Given the description of an element on the screen output the (x, y) to click on. 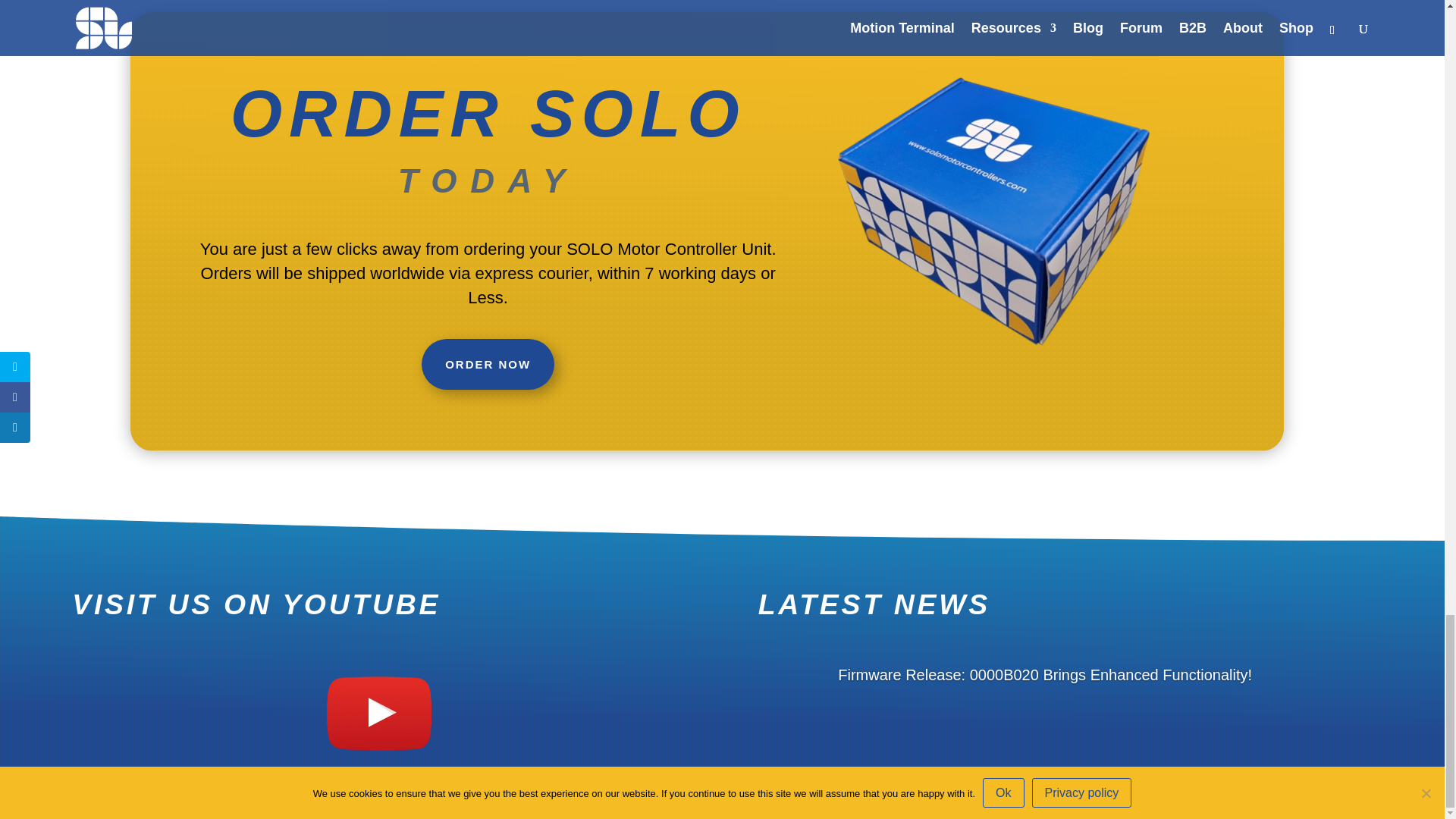
Follow on LinkedIn (1360, 793)
hd-youtube-log (379, 712)
Follow on Youtube (1329, 793)
